Given the description of an element on the screen output the (x, y) to click on. 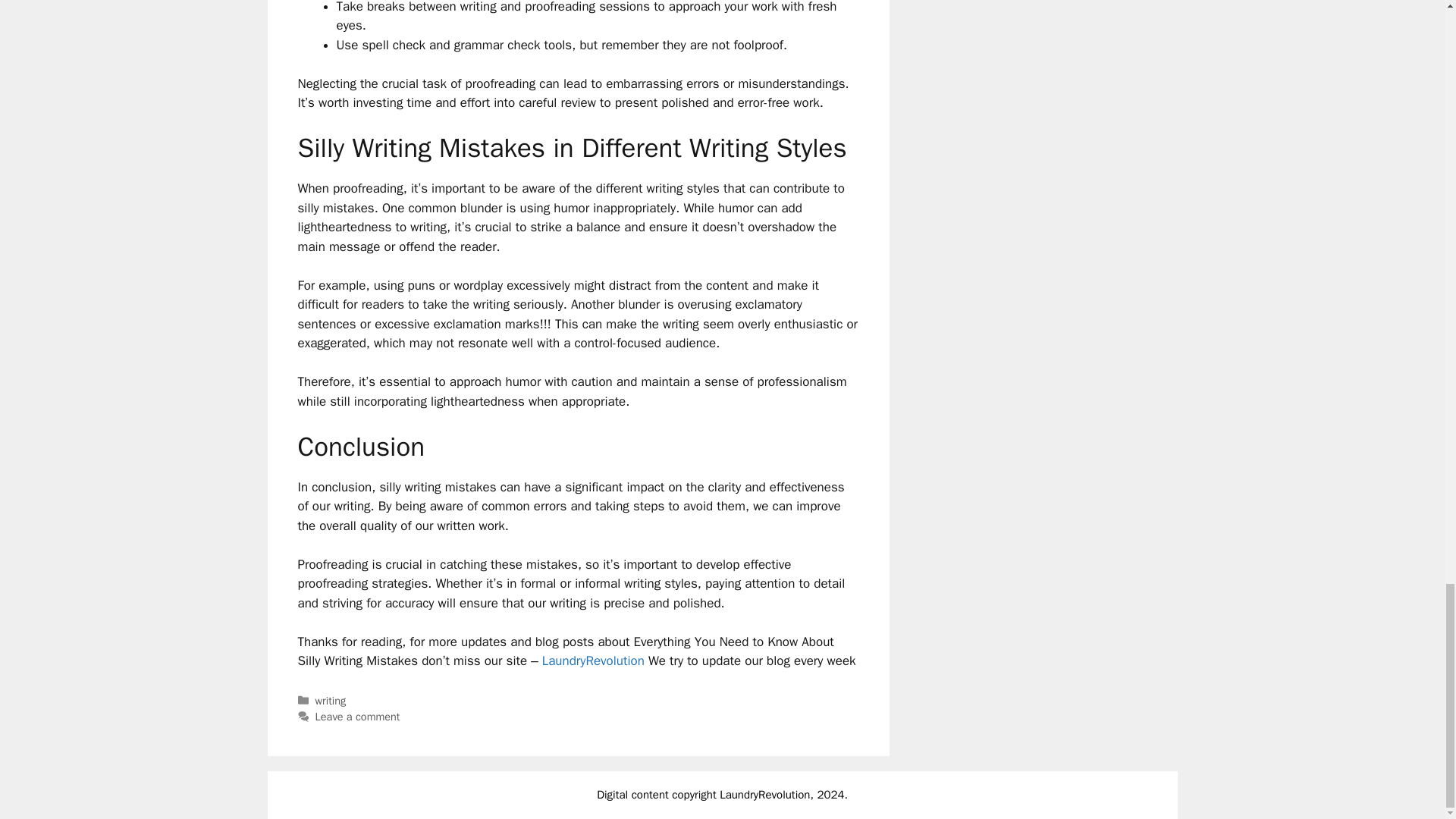
writing (330, 700)
LaundryRevolution (593, 660)
LaundryRevolution (764, 794)
Leave a comment (357, 716)
